Given the description of an element on the screen output the (x, y) to click on. 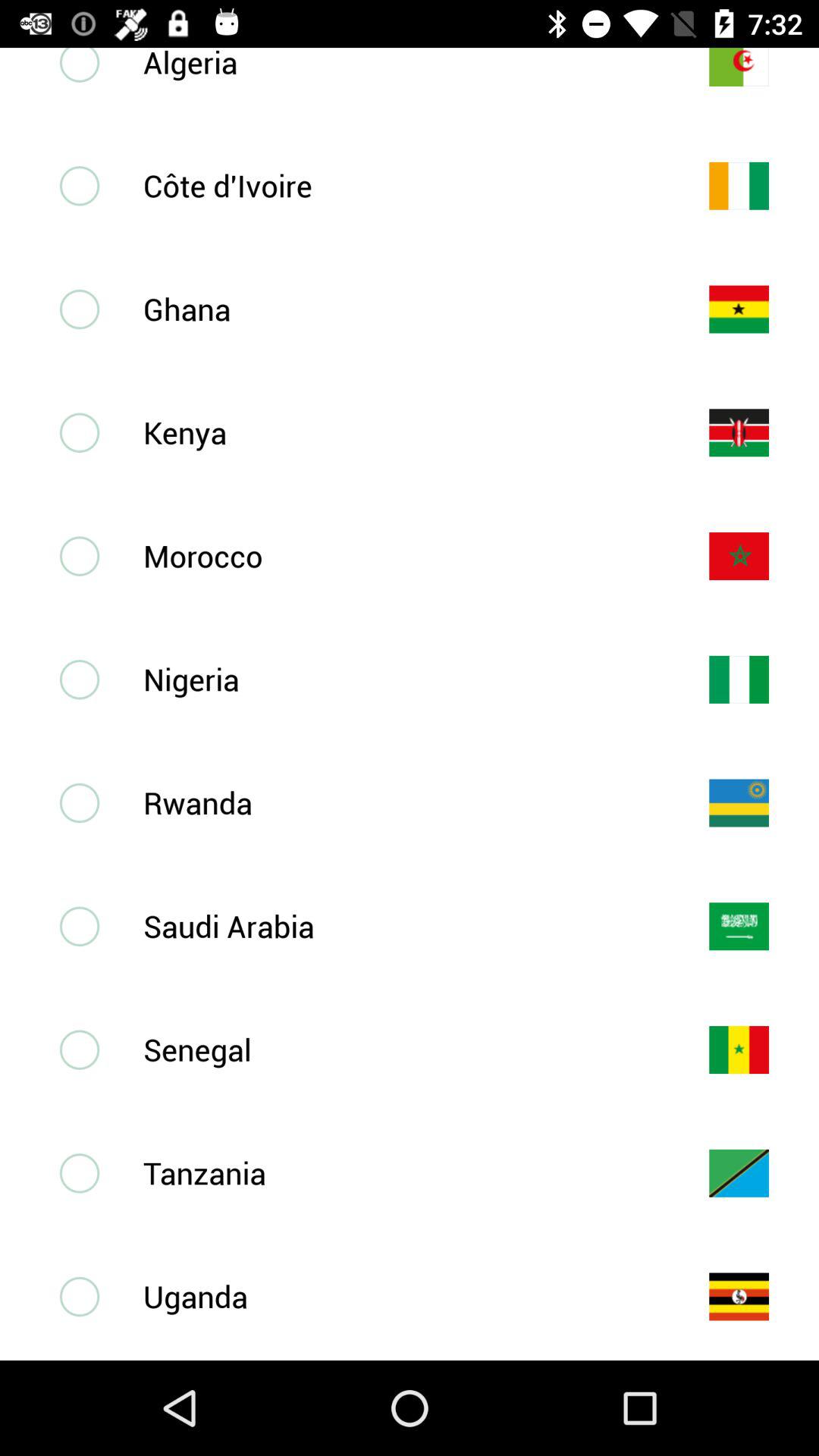
scroll to uganda item (401, 1296)
